Given the description of an element on the screen output the (x, y) to click on. 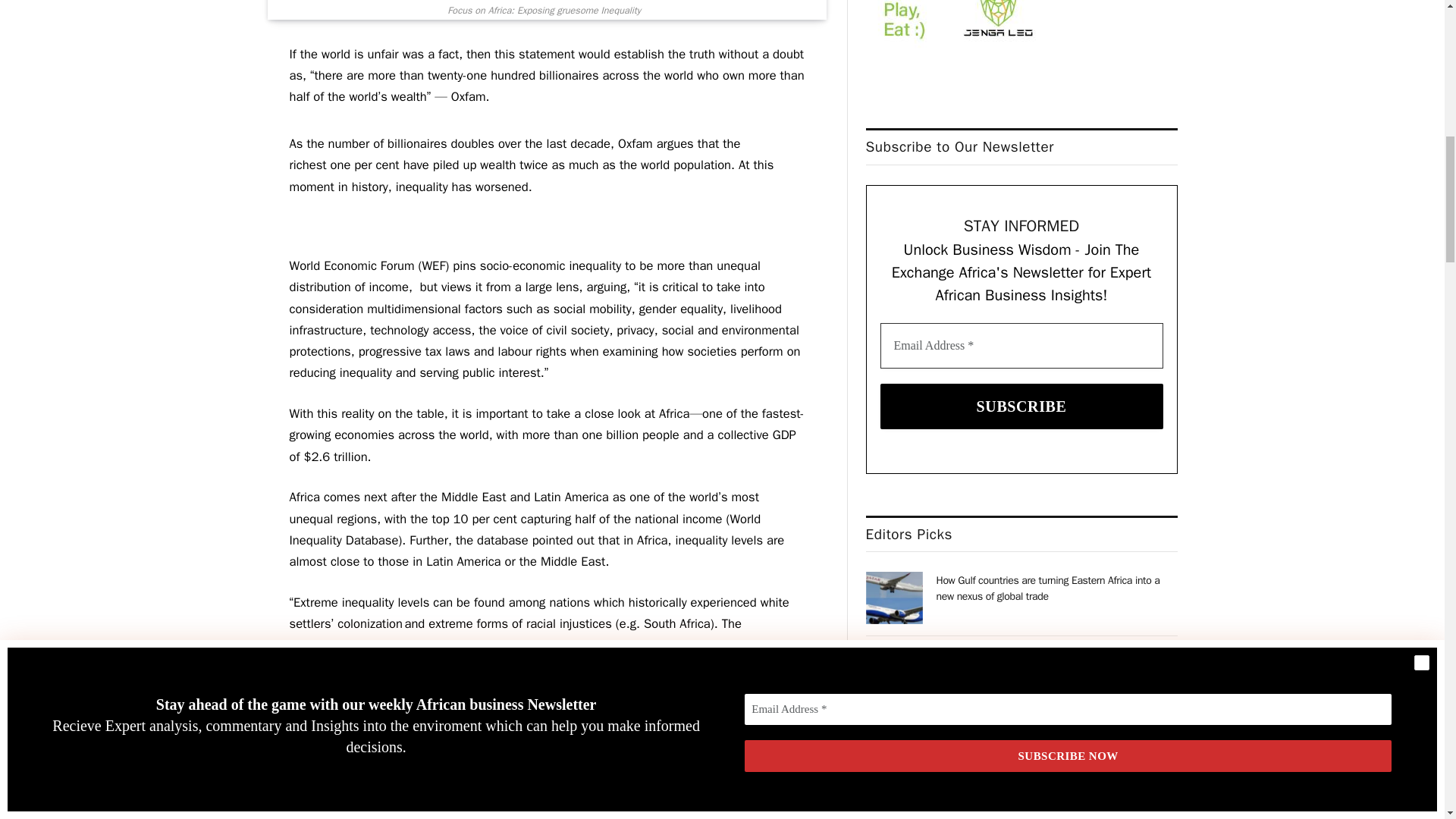
SUBSCRIBE (1021, 406)
